Given the description of an element on the screen output the (x, y) to click on. 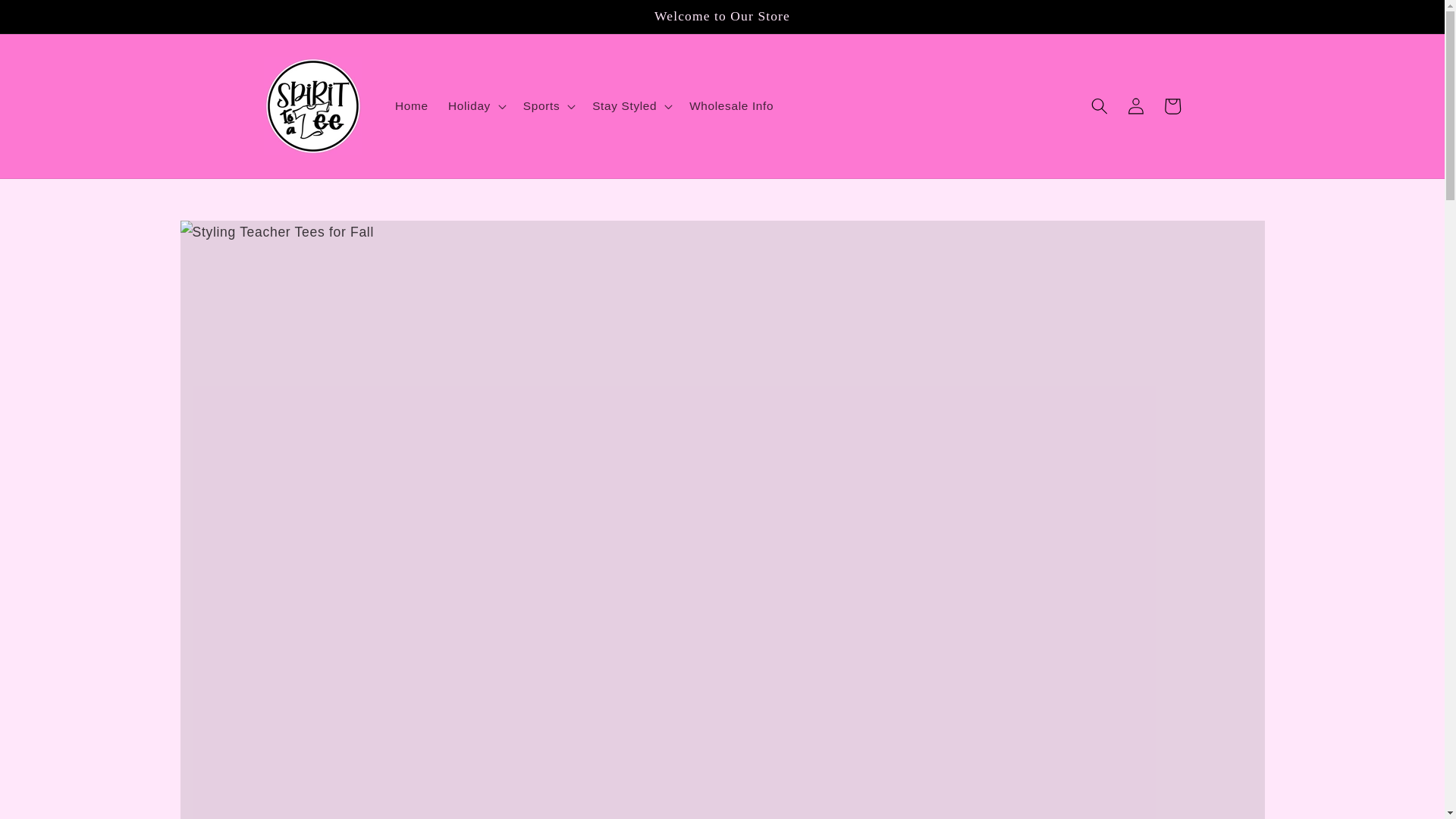
Skip to content (49, 18)
Home (411, 105)
